Given the description of an element on the screen output the (x, y) to click on. 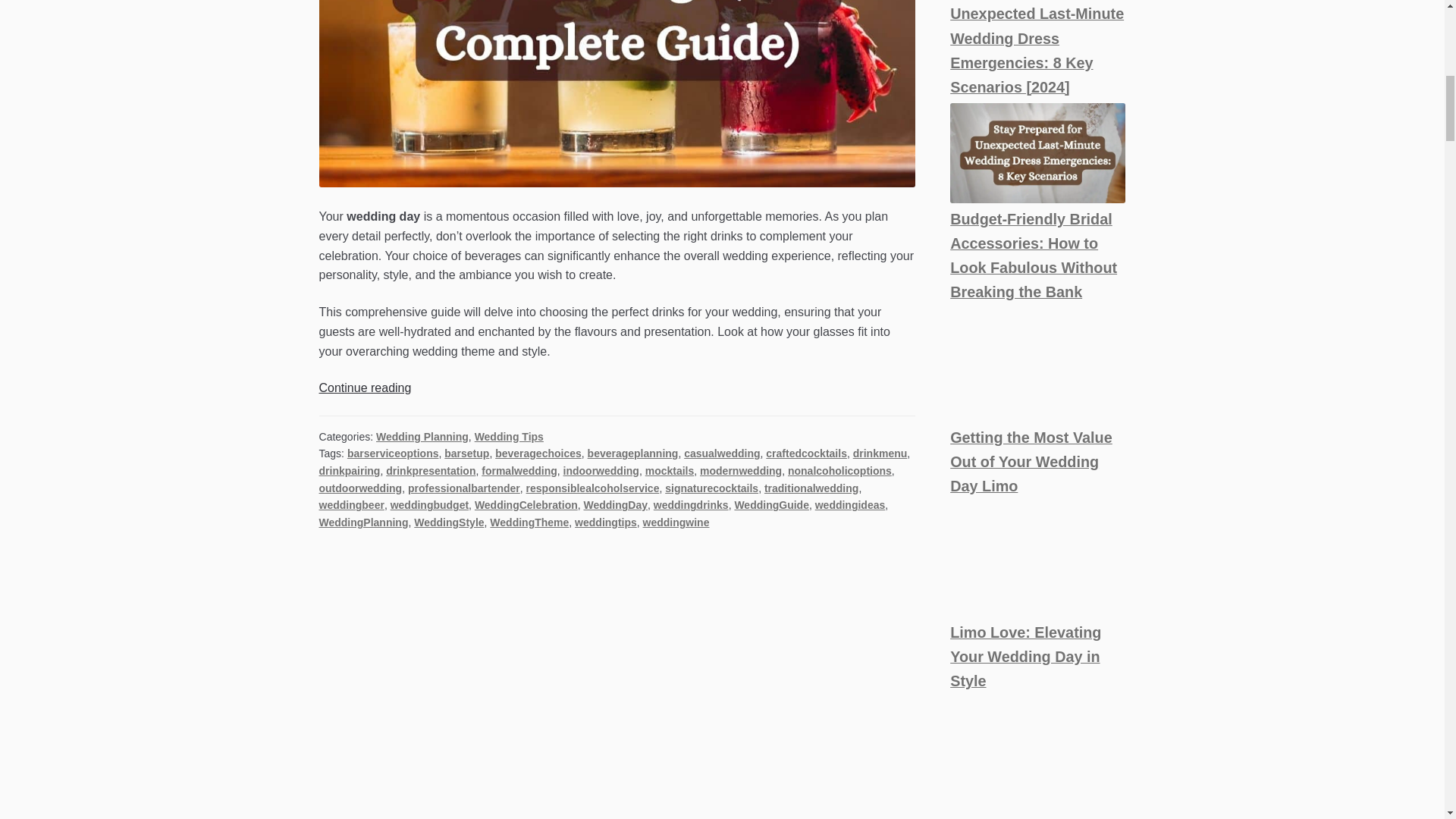
Getting the Most Value Out of Your Wedding Day Limo (1037, 558)
Limo Love: Elevating Your Wedding Day in Style (1037, 753)
